Given the description of an element on the screen output the (x, y) to click on. 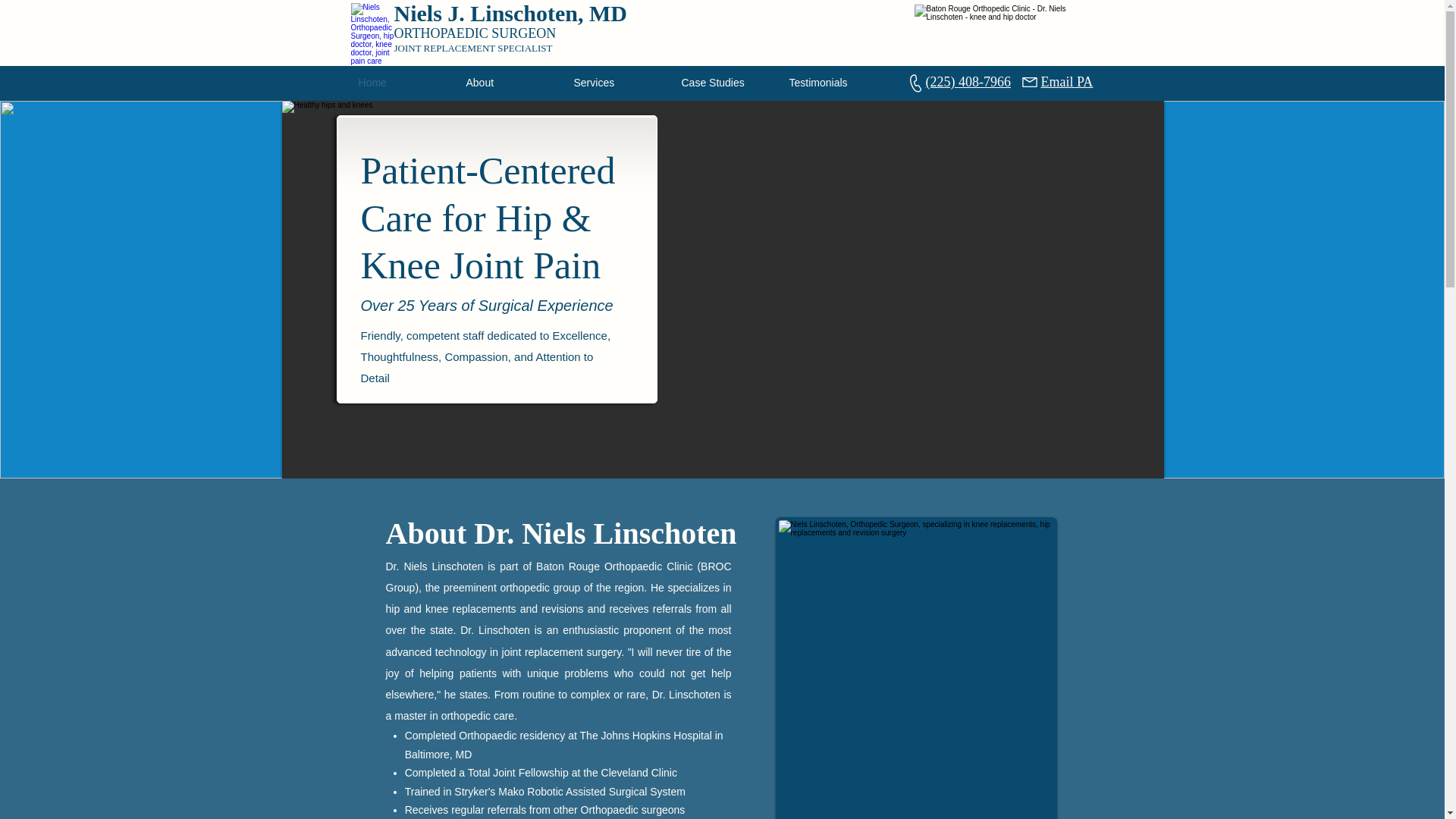
Baton Rouge Orthopaedic Clinic (1004, 33)
Services (619, 82)
Case Studies (726, 82)
Email PA (1067, 81)
Testimonials (834, 82)
About (512, 82)
Home (404, 82)
